Given the description of an element on the screen output the (x, y) to click on. 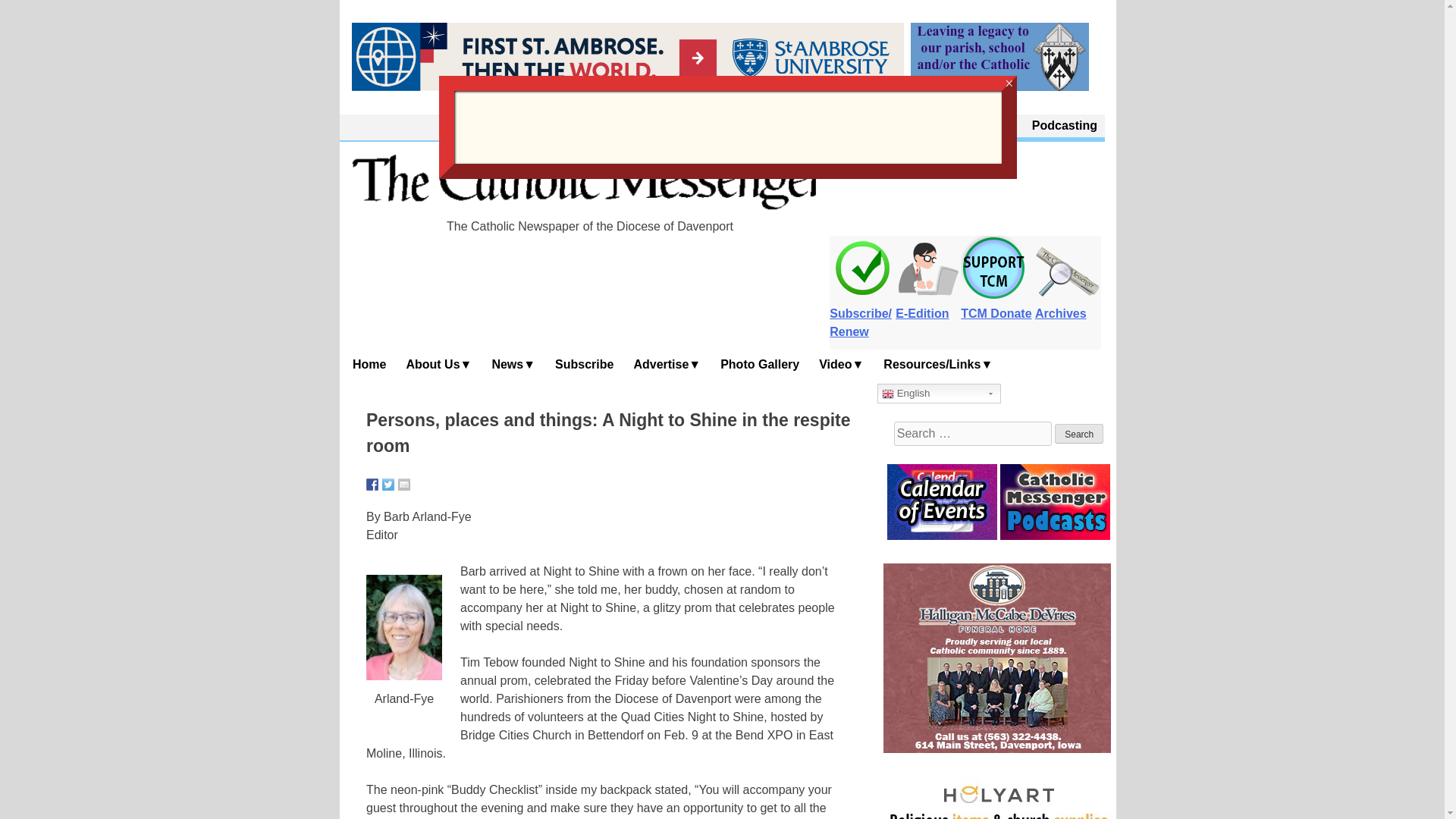
Search (1078, 433)
About Us (910, 125)
Subscribe (585, 363)
E-Edition (927, 304)
Search (1078, 433)
News (513, 363)
Home (369, 363)
Share by email (403, 484)
Share on Facebook (372, 484)
Advertise (668, 363)
Contact Us (983, 125)
Archives (1067, 304)
About Us (438, 363)
Podcasting (1065, 125)
Share on Twitter (387, 484)
